Given the description of an element on the screen output the (x, y) to click on. 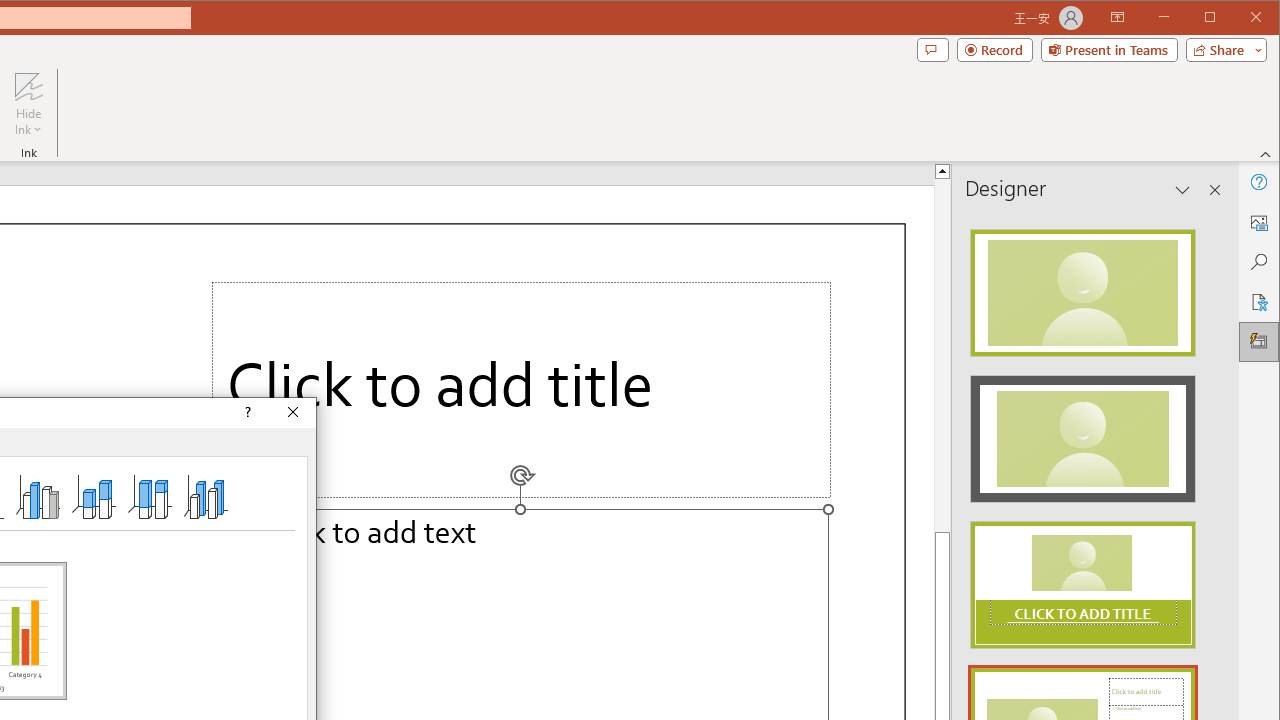
3-D Clustered Column (38, 496)
3-D Stacked Column (93, 496)
